Given the description of an element on the screen output the (x, y) to click on. 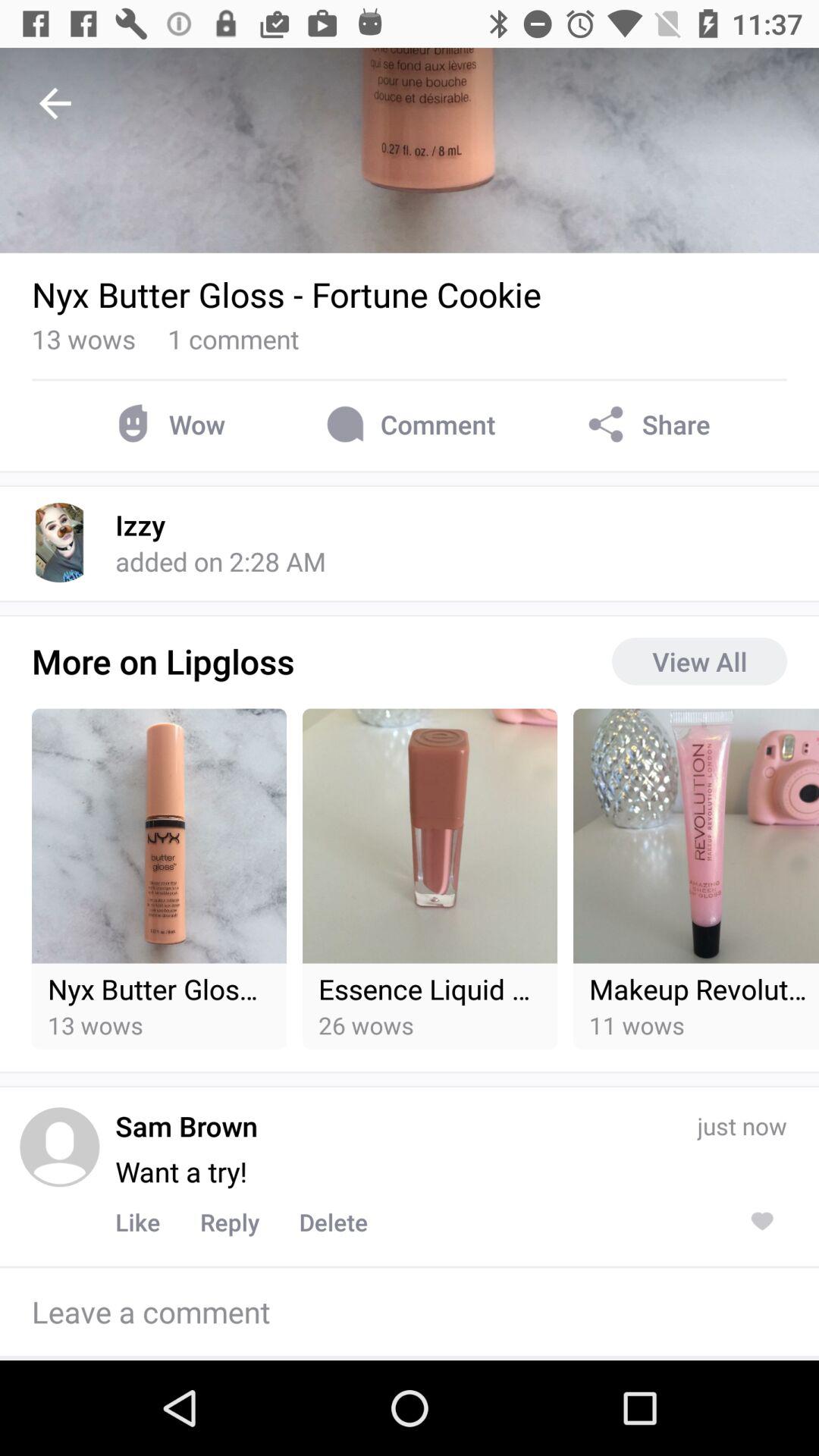
click the icon at the top right corner (646, 424)
